Given the description of an element on the screen output the (x, y) to click on. 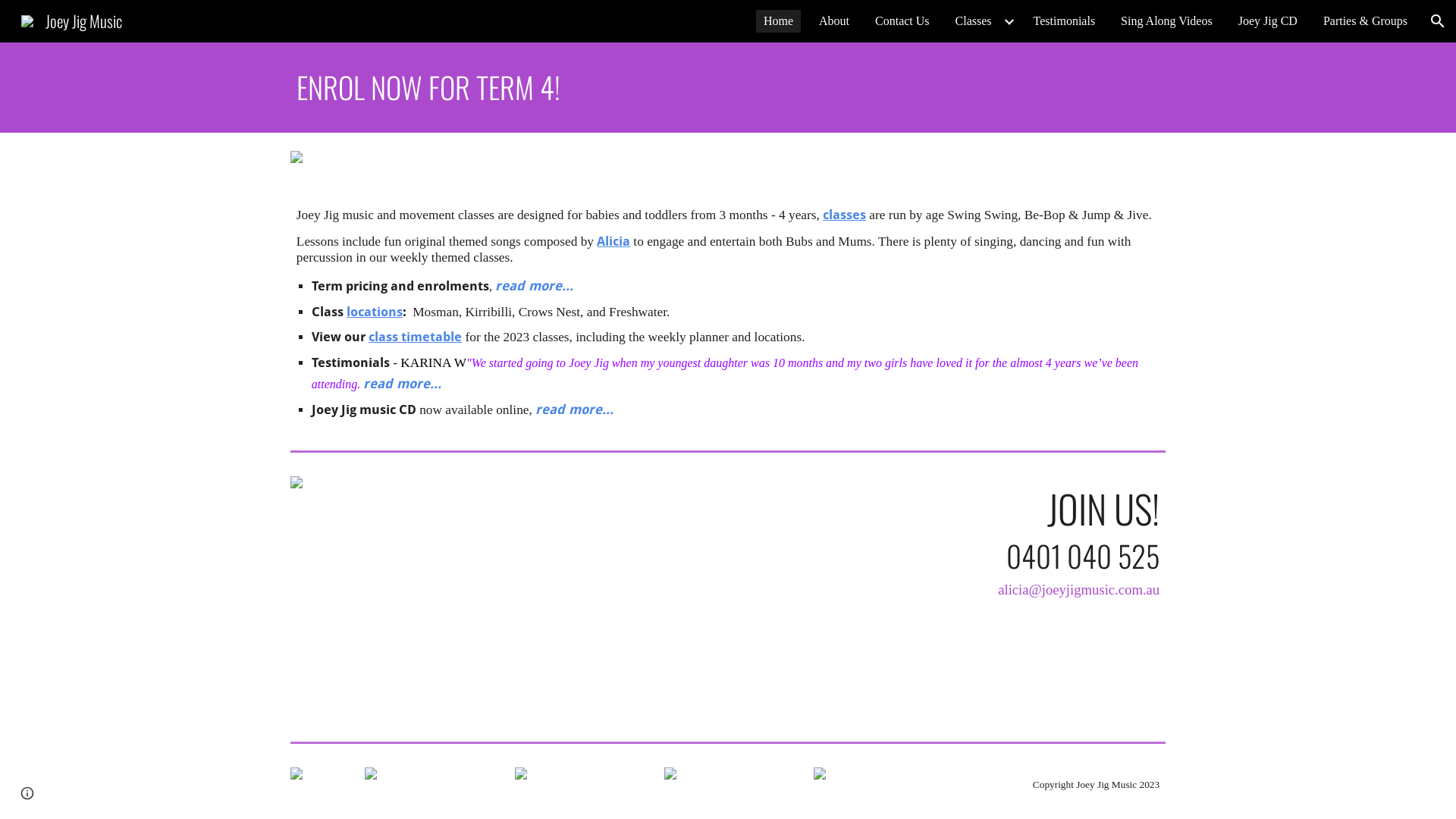
Contact Us Element type: text (902, 20)
Joey Jig Music Element type: text (71, 18)
Classes Element type: text (973, 20)
Expand/Collapse Element type: hover (1008, 20)
Home Element type: text (778, 20)
Testimonials Element type: text (1064, 20)
Parties & Groups Element type: text (1365, 20)
alicia@joeyjigmusic.com.au Element type: text (1078, 587)
read more Element type: text (568, 408)
classes Element type: text (844, 214)
About Element type: text (833, 20)
Sing Along Videos Element type: text (1166, 20)
class timetable Element type: text (414, 336)
locations Element type: text (374, 311)
read more Element type: text (528, 286)
read more Element type: text (396, 383)
Joey Jig CD Element type: text (1267, 20)
Alicia Element type: text (613, 241)
